Given the description of an element on the screen output the (x, y) to click on. 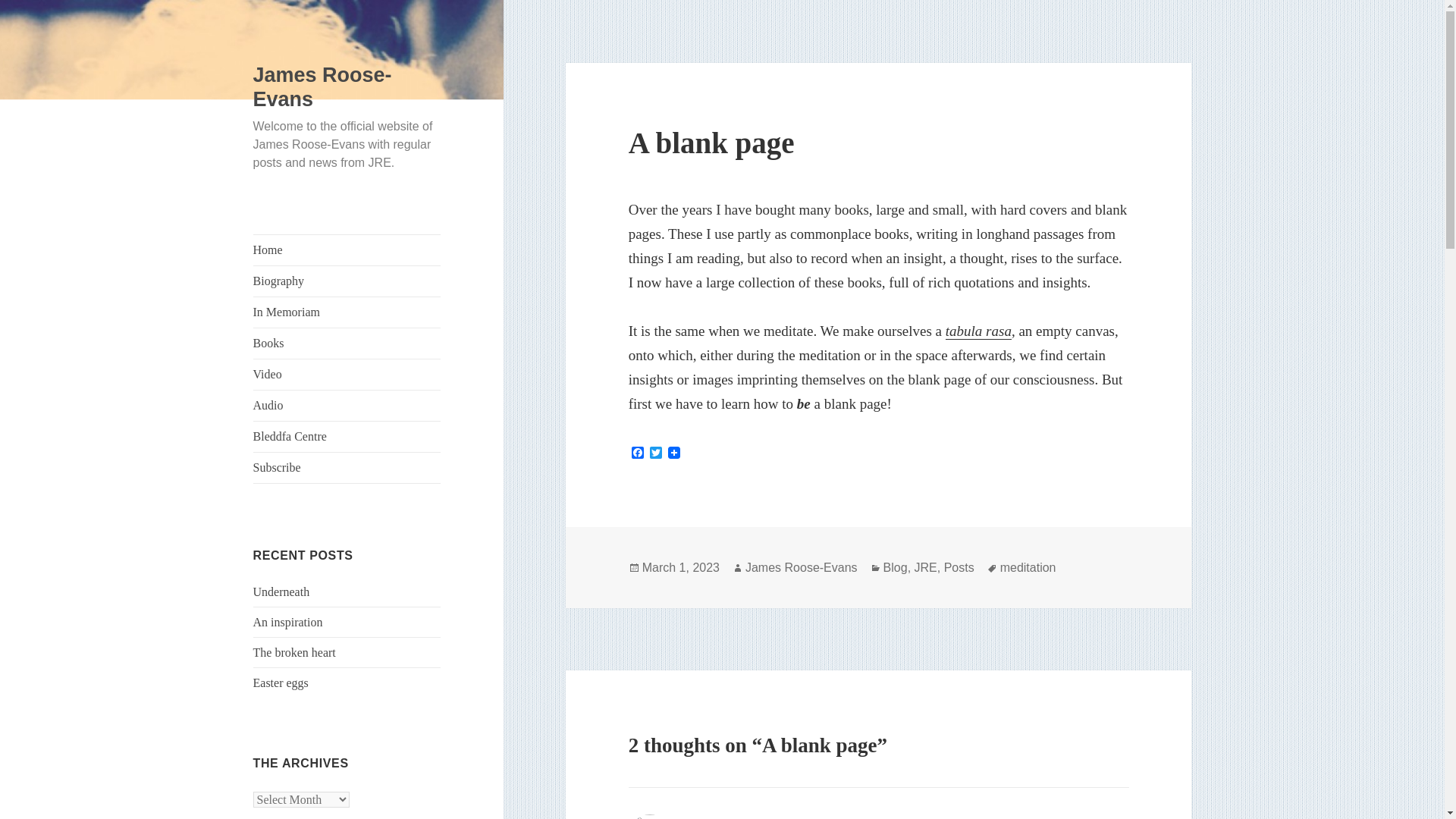
Blog (895, 567)
Home (347, 250)
Subscribe (347, 467)
Easter eggs (280, 682)
tabula rasa (977, 330)
James Roose-Evans (322, 86)
Video (347, 374)
Audio (347, 405)
JRE (925, 567)
Biography (347, 281)
The broken heart (294, 652)
Underneath (281, 591)
Books (347, 343)
Posts (958, 567)
An inspiration (288, 621)
